Given the description of an element on the screen output the (x, y) to click on. 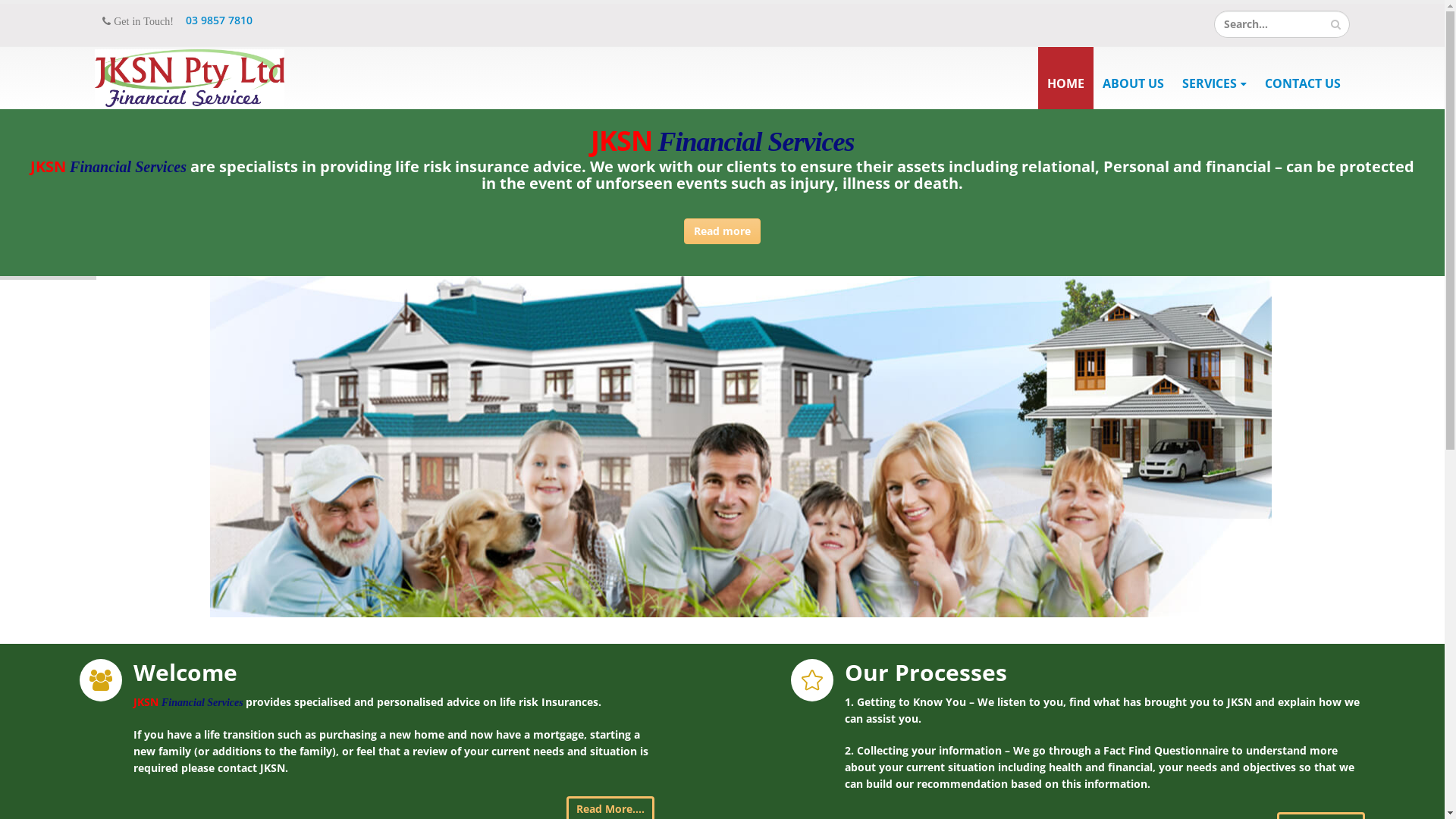
Life Risk Advice - Specialists in Life Risk Insurance Advice Element type: hover (189, 78)
03 9857 7810 Element type: text (219, 19)
HOME Element type: text (1065, 78)
SERVICES Element type: text (1214, 78)
CONTACT US Element type: text (1302, 78)
ABOUT US Element type: text (1133, 78)
Read more Element type: text (722, 231)
Search Element type: hover (1335, 24)
